Given the description of an element on the screen output the (x, y) to click on. 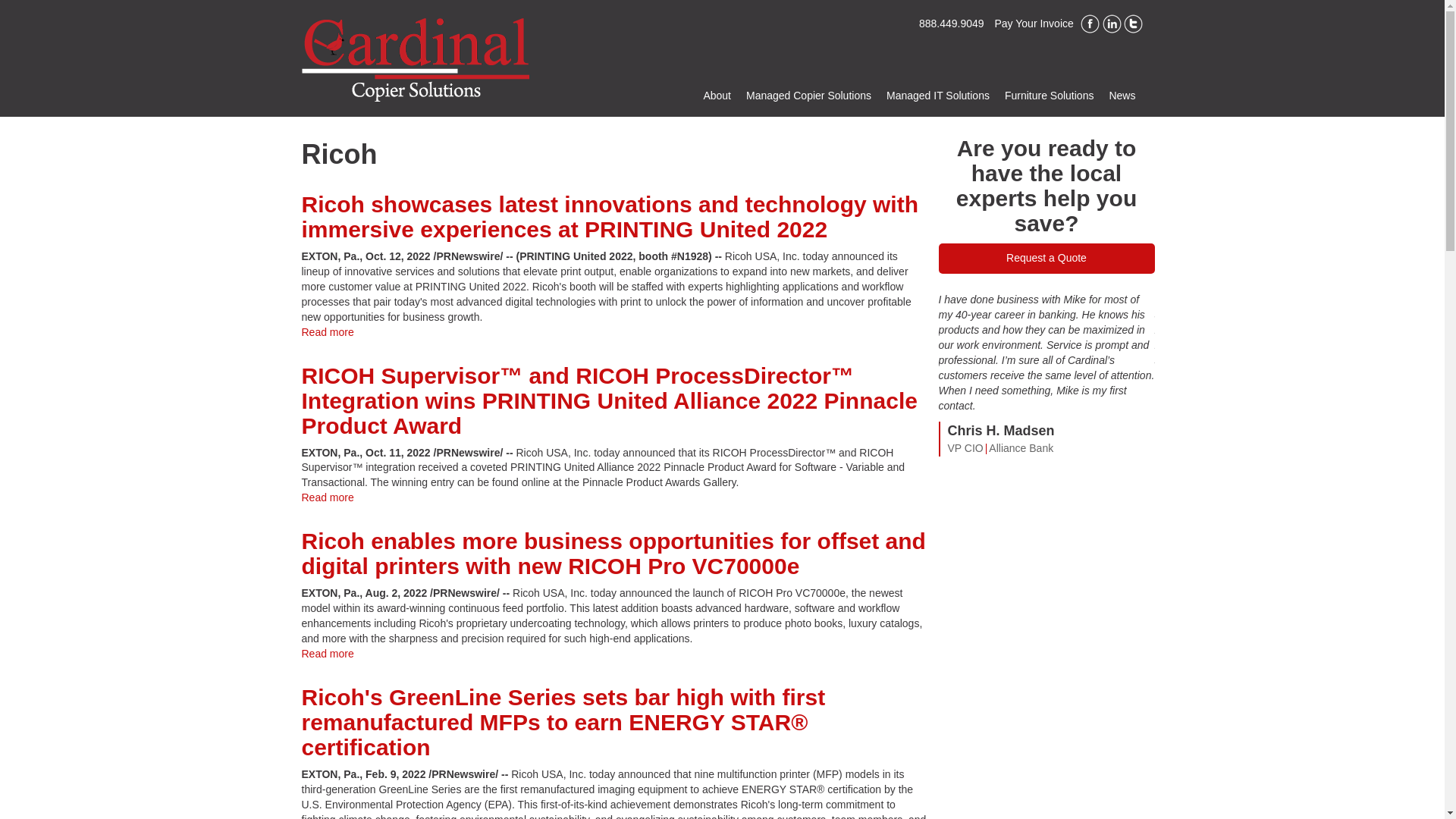
Managed IT Solutions (938, 96)
888.449.9049 (945, 23)
About (716, 96)
LinkedIn (1111, 23)
Pay Your Invoice (1034, 23)
Furniture Solutions (1049, 96)
Facebook (1089, 23)
Twitter (1133, 23)
